Given the description of an element on the screen output the (x, y) to click on. 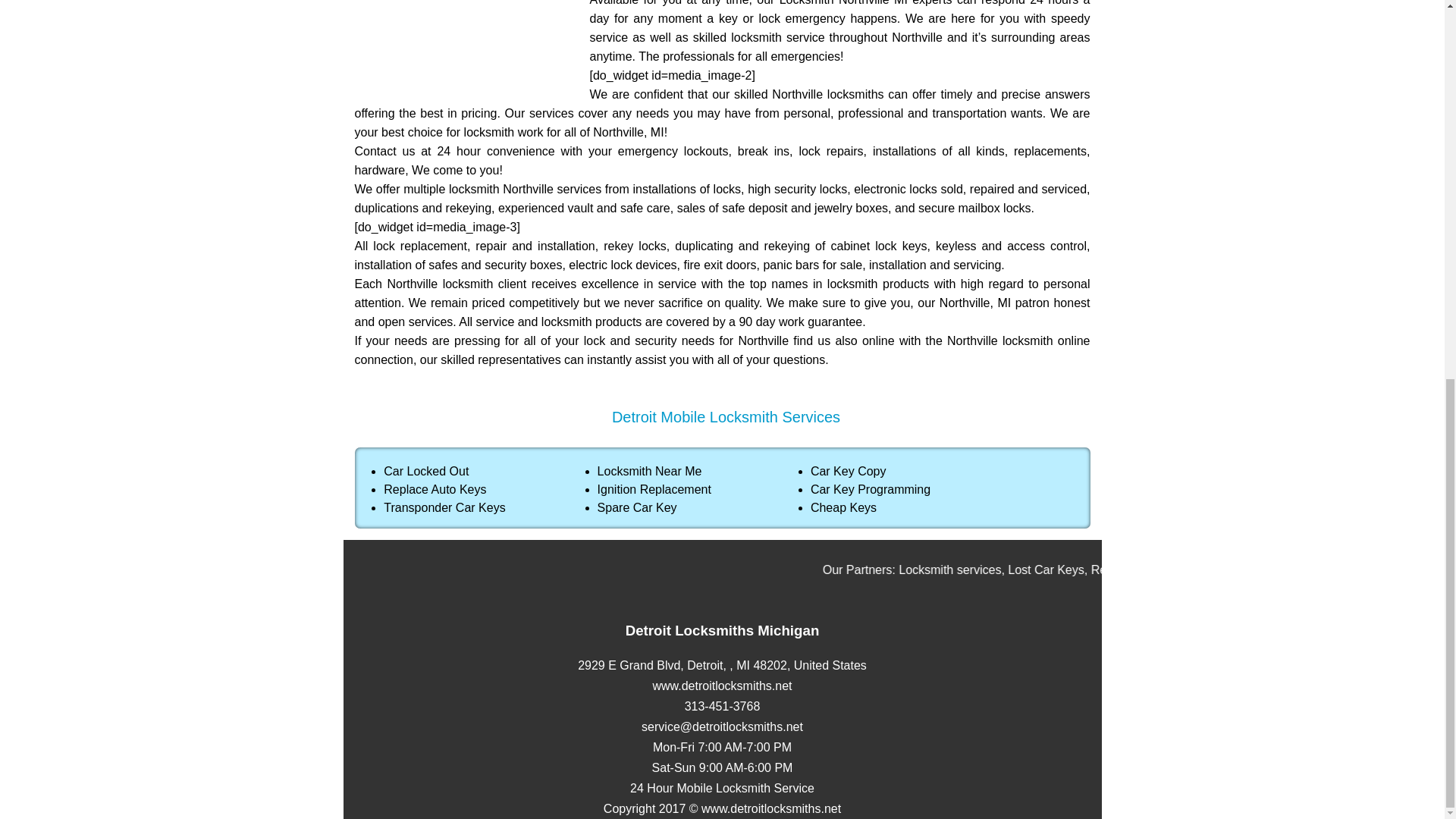
www.detroitlocksmiths.net (722, 685)
Lost Car Keys (1308, 569)
Locksmith services (1214, 569)
313-451-3768 (722, 706)
